Given the description of an element on the screen output the (x, y) to click on. 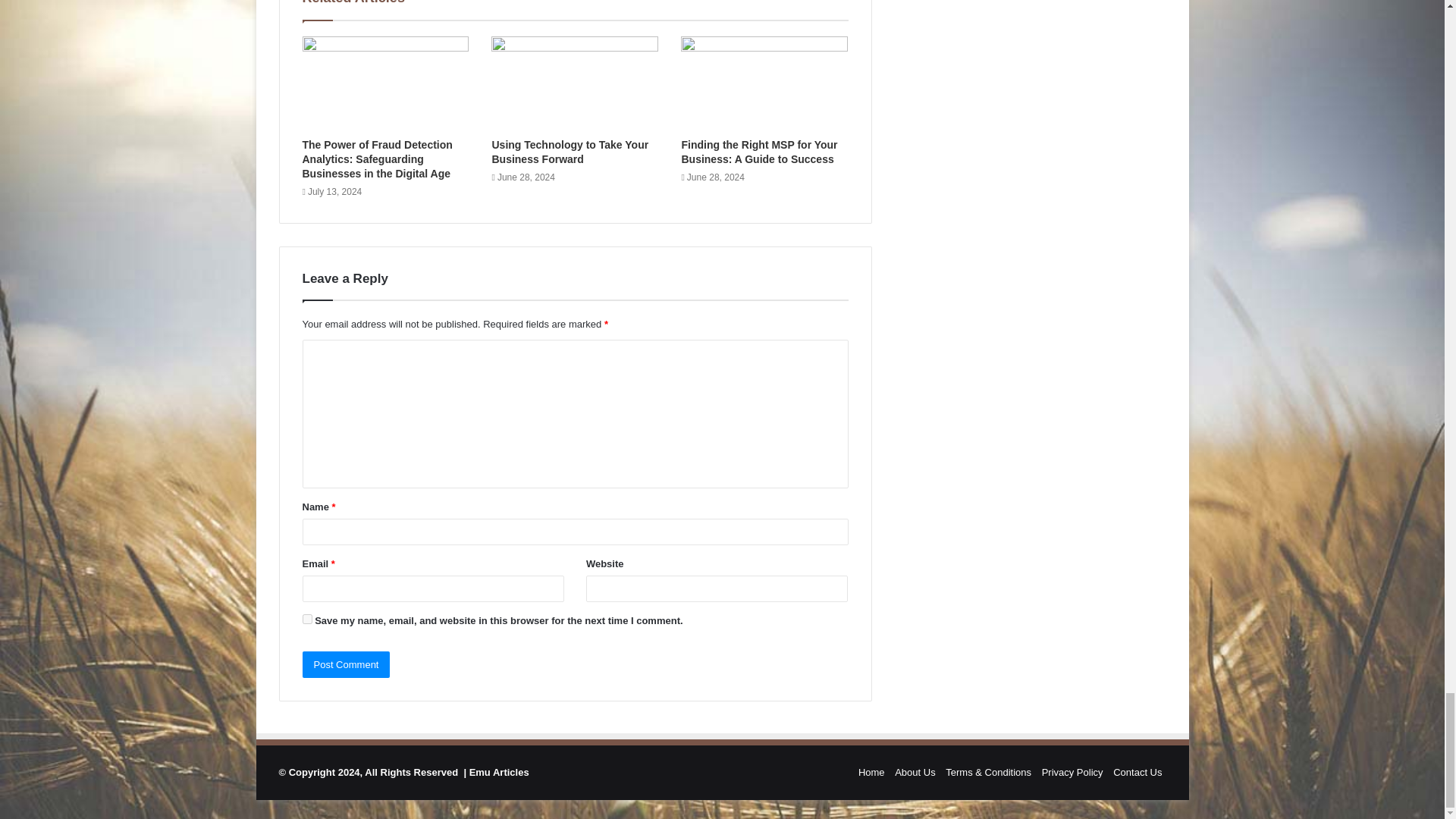
yes (306, 619)
Post Comment (345, 664)
